Given the description of an element on the screen output the (x, y) to click on. 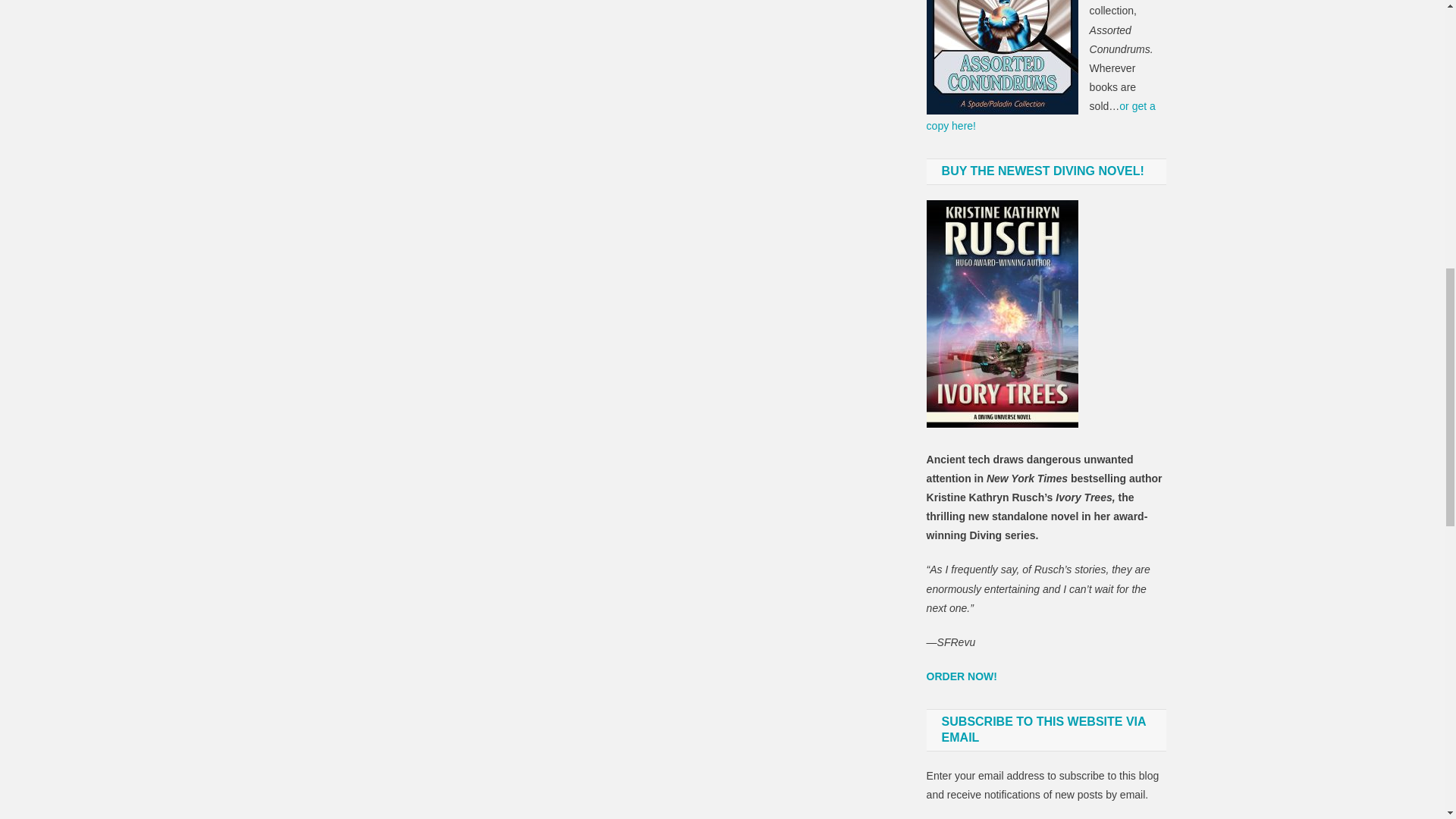
or get a copy here! (1041, 115)
